Given the description of an element on the screen output the (x, y) to click on. 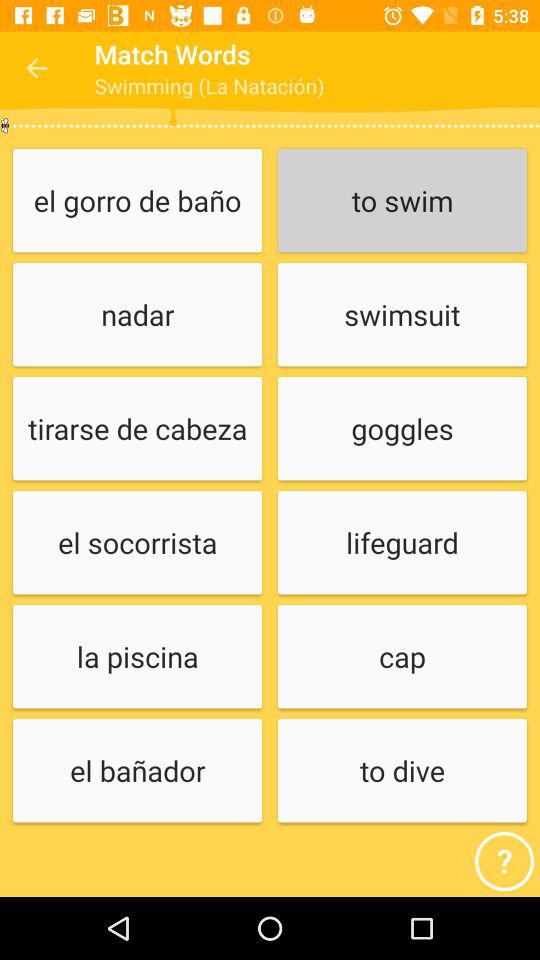
flip until the swimsuit (402, 315)
